Given the description of an element on the screen output the (x, y) to click on. 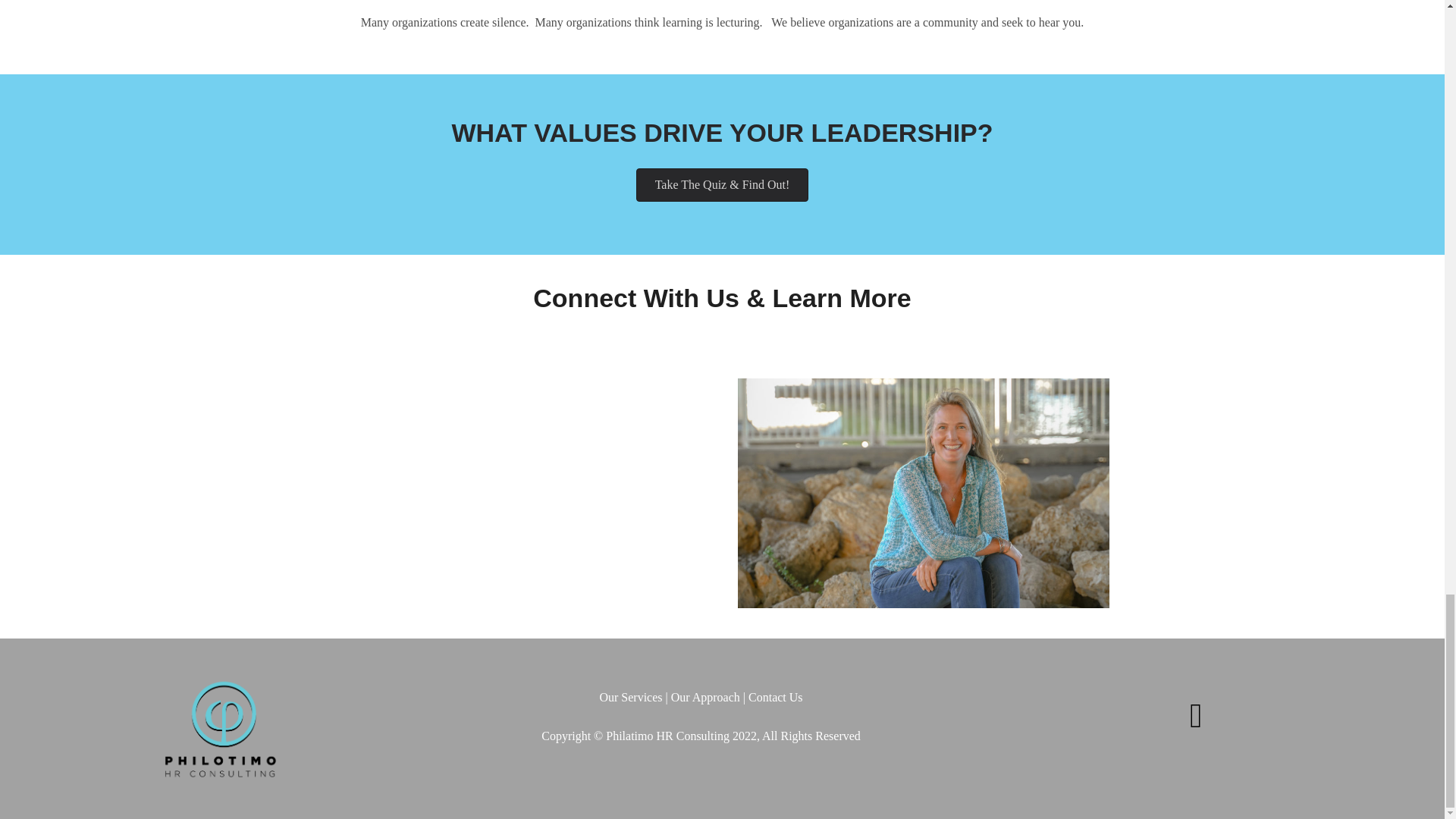
Our Approach (705, 697)
Contact Us (775, 697)
DanielleBodalski-04 (922, 493)
cropped-Philotimo-LOGO-COLOR-transparent.png (219, 732)
Form 0 (520, 470)
Our Services (630, 697)
